Given the description of an element on the screen output the (x, y) to click on. 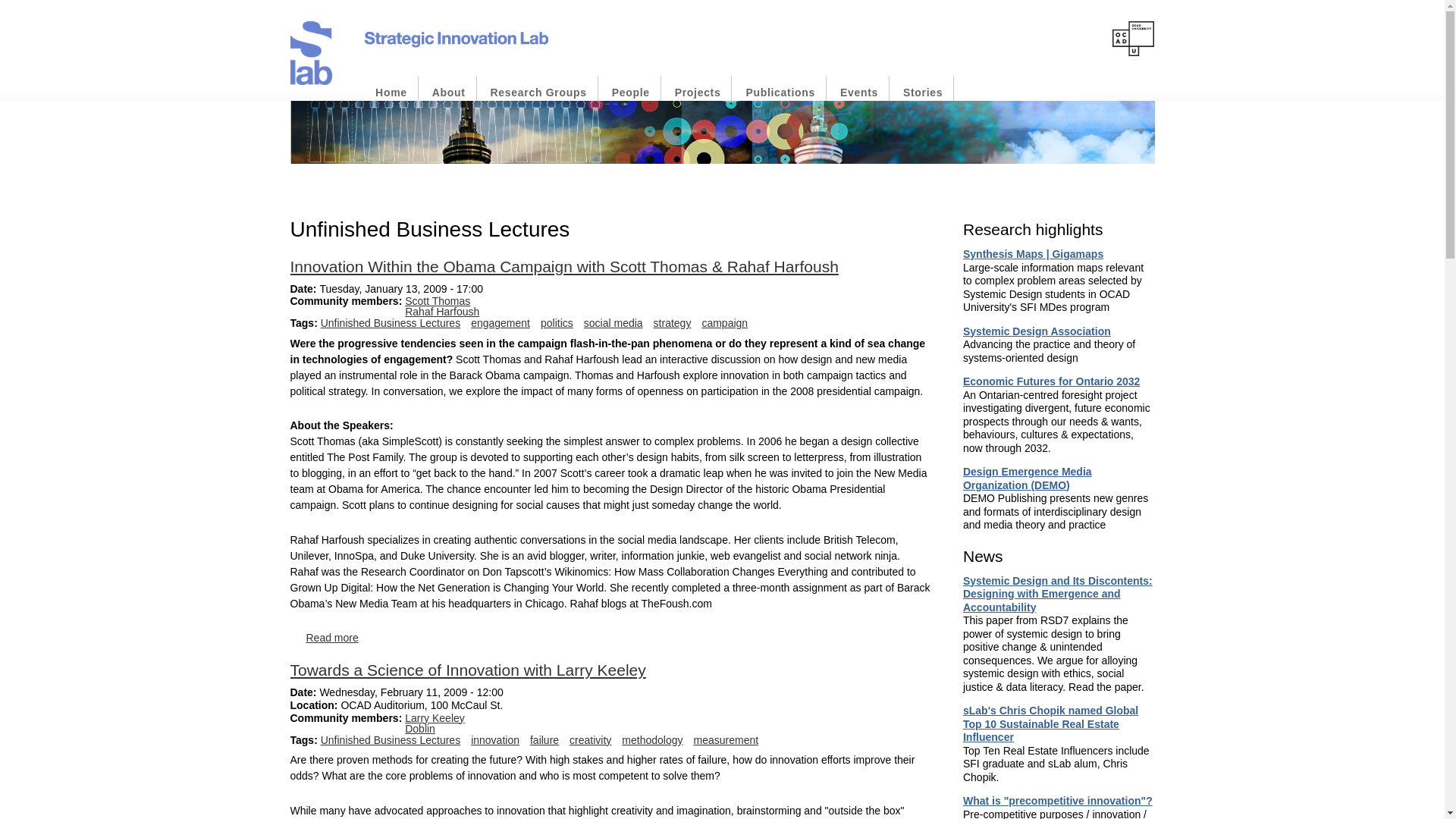
Strategic Innovation Lab home (391, 92)
politics (556, 322)
Stories (922, 92)
Home (391, 92)
social media (613, 322)
Events (858, 92)
People (630, 92)
measurement (726, 739)
Research Groups (538, 92)
Scott Thomas (437, 300)
Publications (780, 92)
Unfinished Business Lectures (390, 322)
Unfinished Business Lectures (390, 739)
creativity (590, 739)
failure (544, 739)
